Given the description of an element on the screen output the (x, y) to click on. 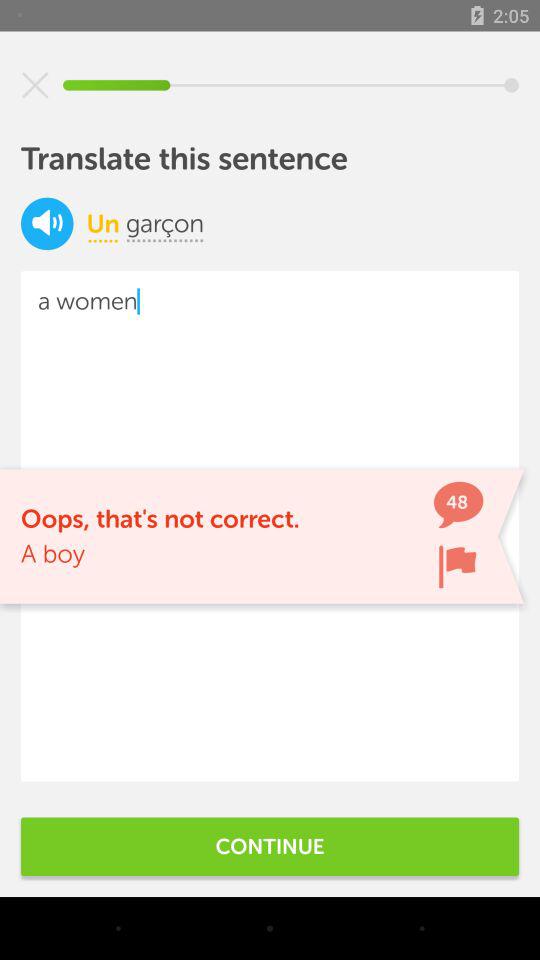
listen to pronunciation (47, 223)
